Given the description of an element on the screen output the (x, y) to click on. 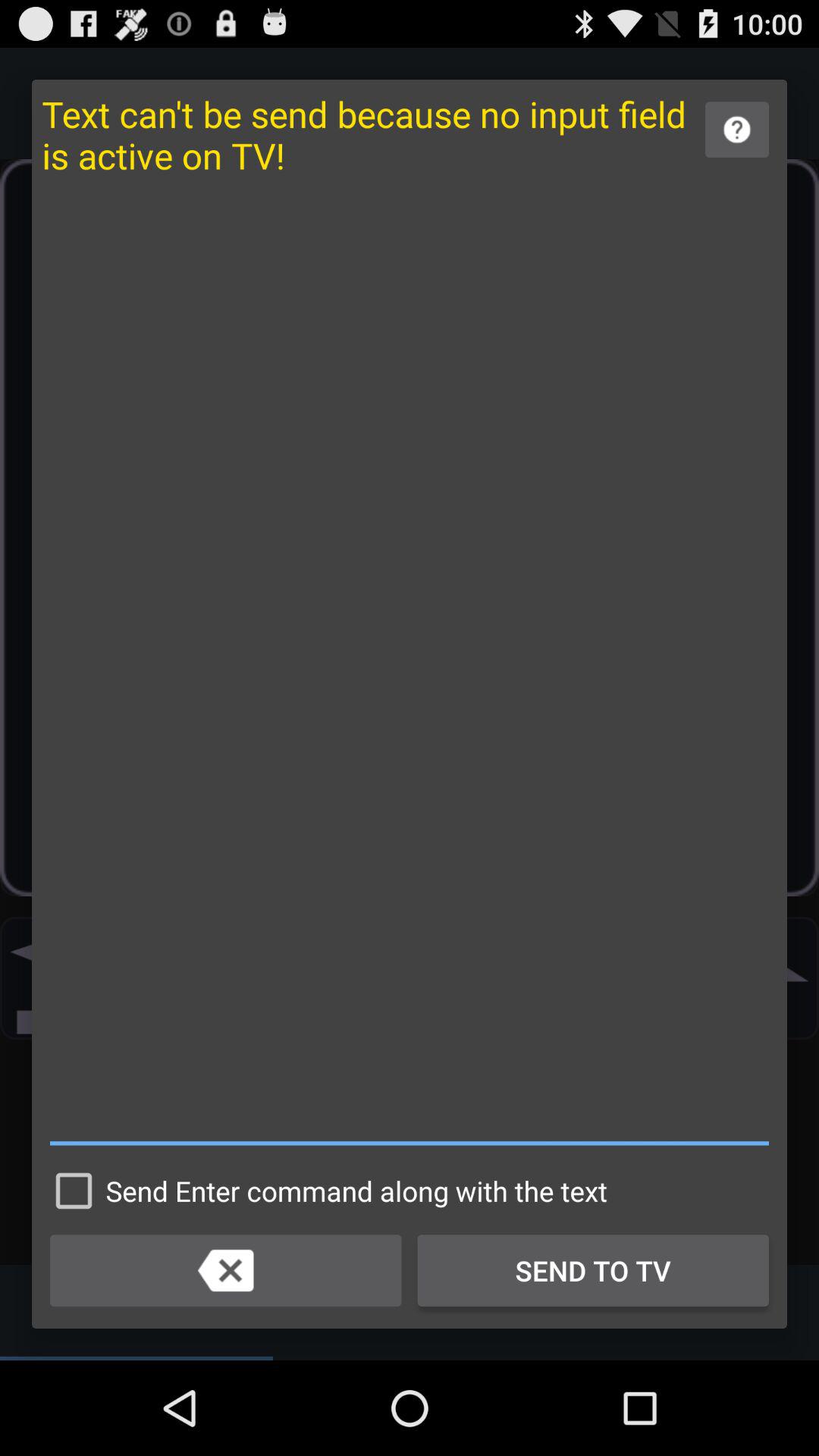
go to previous (225, 1270)
